Given the description of an element on the screen output the (x, y) to click on. 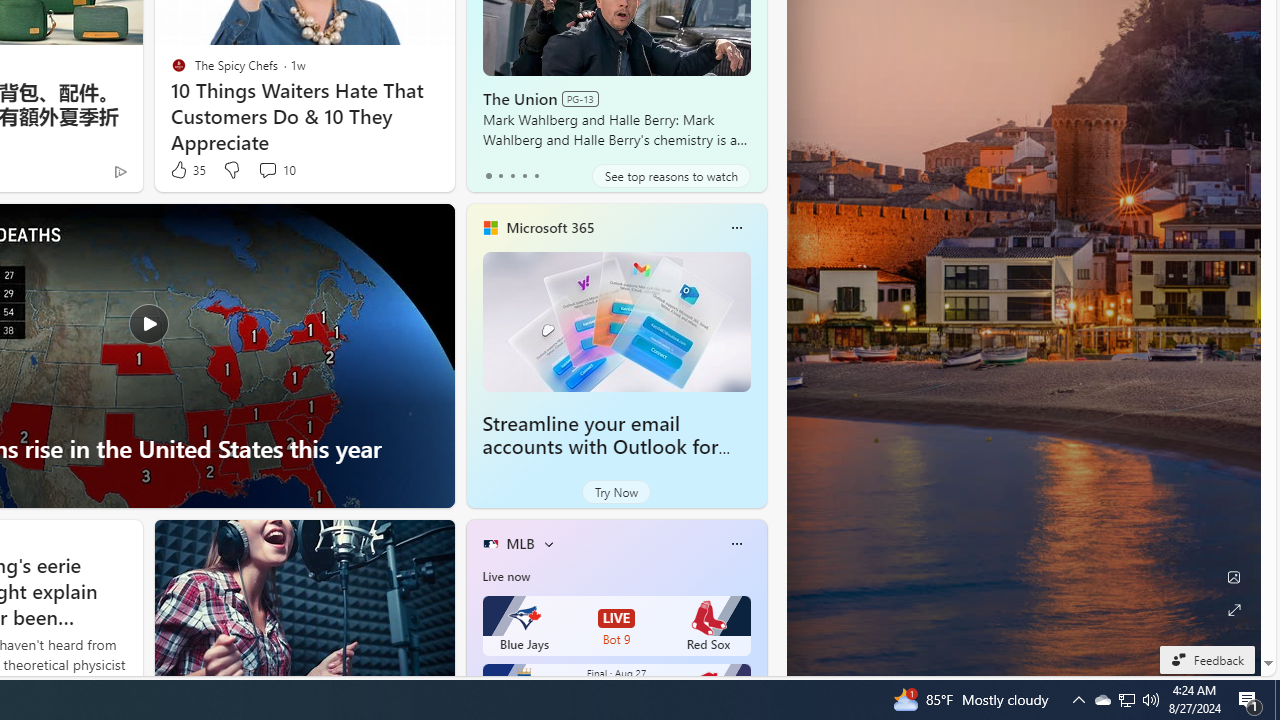
View comments 10 Comment (267, 169)
See top reasons to watch (671, 175)
tab-3 (524, 175)
Feedback (1206, 659)
35 Like (186, 170)
Try Now (616, 491)
Class: icon-img (736, 543)
Streamline your email accounts with Outlook for Windows (600, 446)
Expand background (1233, 610)
Edit Background (1233, 577)
Ad Choice (119, 171)
tab-4 (535, 175)
Dislike (230, 170)
tab-1 (500, 175)
